Given the description of an element on the screen output the (x, y) to click on. 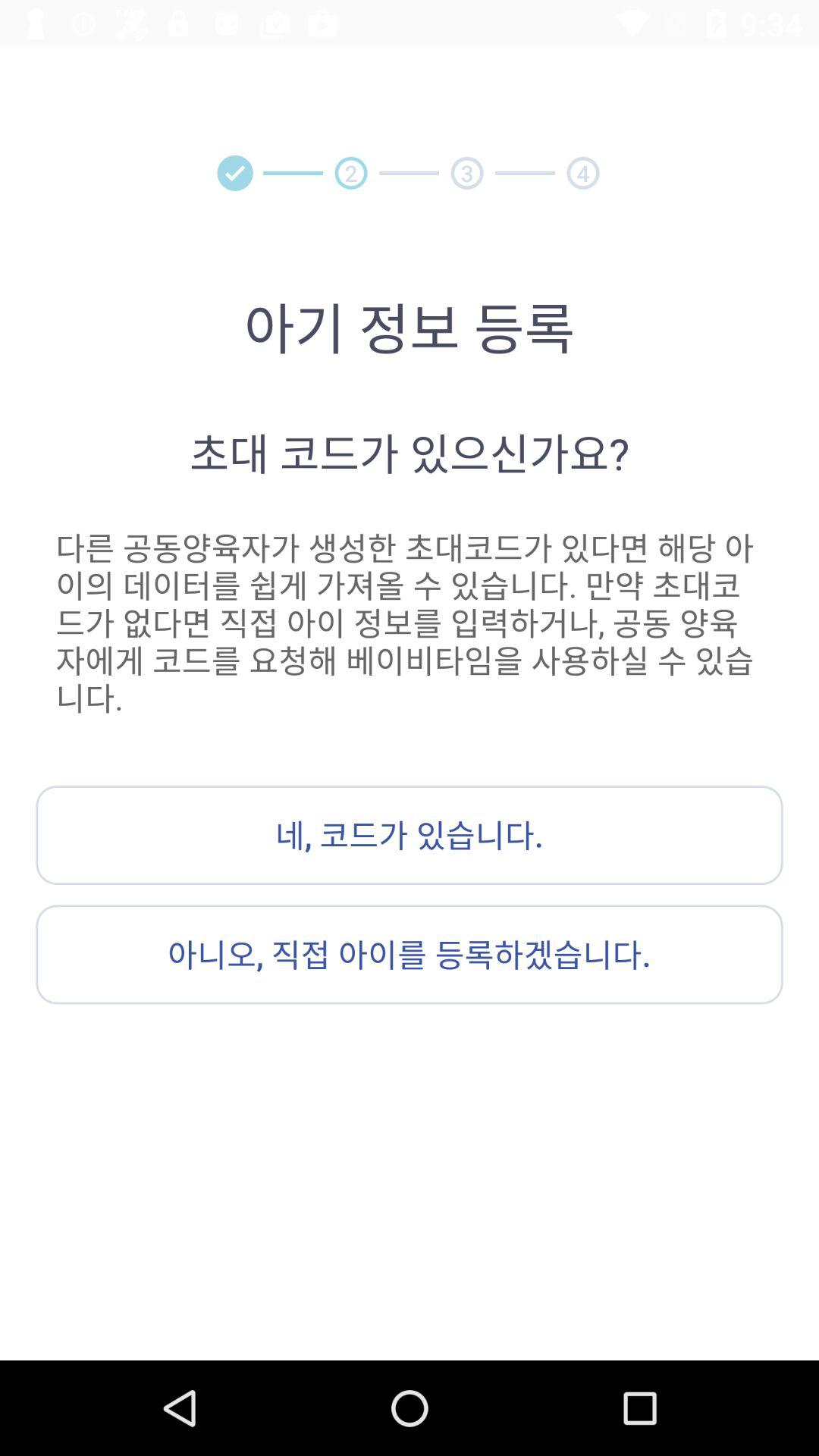
flip until 4 (583, 173)
